Given the description of an element on the screen output the (x, y) to click on. 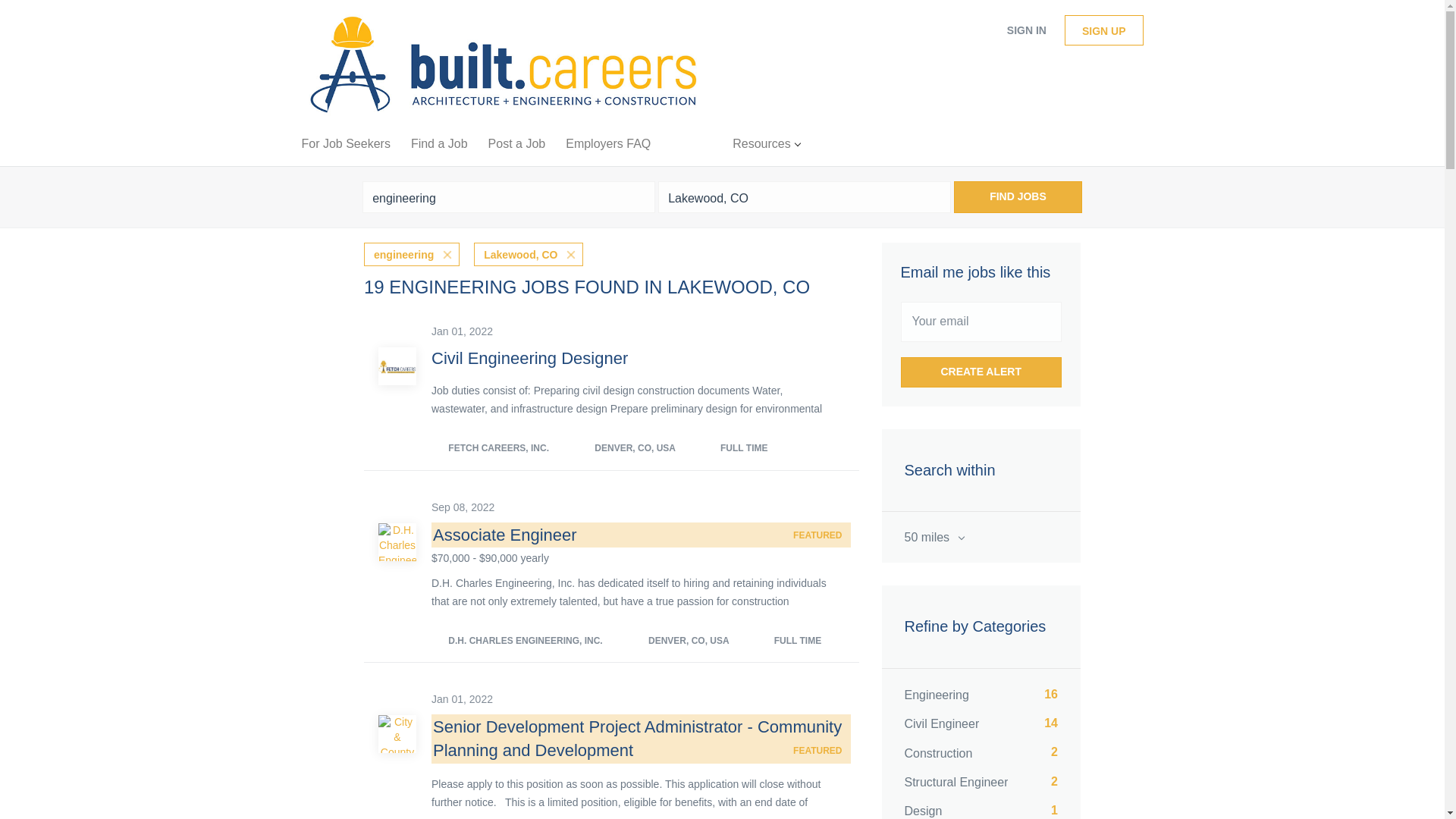
Resources (765, 147)
Create alert (981, 372)
50 miles (980, 537)
Create alert (981, 372)
FIND JOBS (1017, 196)
SIGN IN (1026, 30)
Lakewood, CO (980, 807)
Employers FAQ (804, 196)
engineering (607, 147)
